Given the description of an element on the screen output the (x, y) to click on. 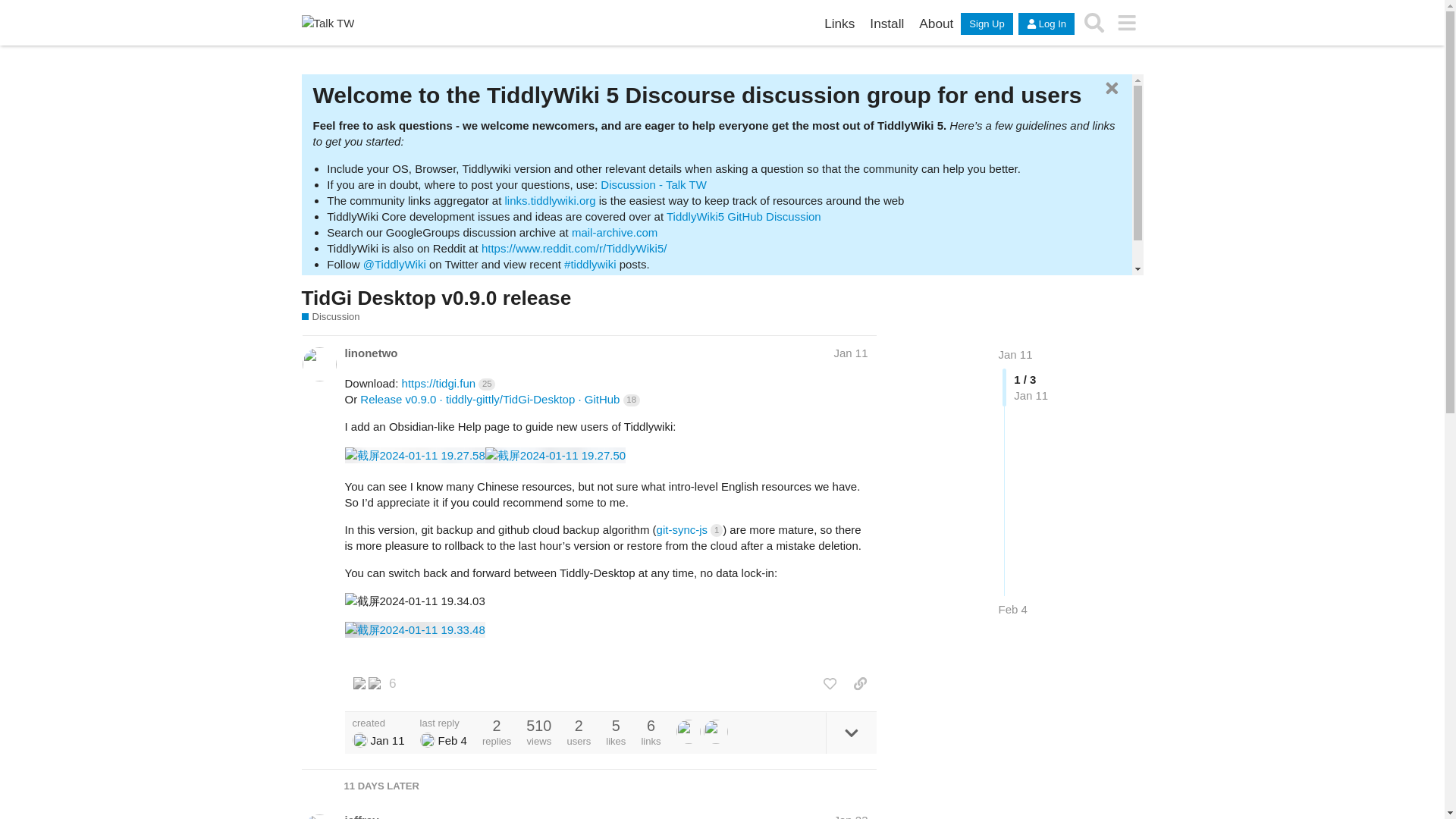
linonetwo (370, 352)
git-sync-js 1 (689, 529)
Jan 11, 2024 7:35 pm (849, 352)
Log In (1045, 24)
Discussion (330, 316)
TidGi Desktop v0.9.0 release (436, 297)
Feb 4 (1011, 609)
25 clicks (487, 384)
Install (886, 23)
mail-archive.com (615, 232)
